Given the description of an element on the screen output the (x, y) to click on. 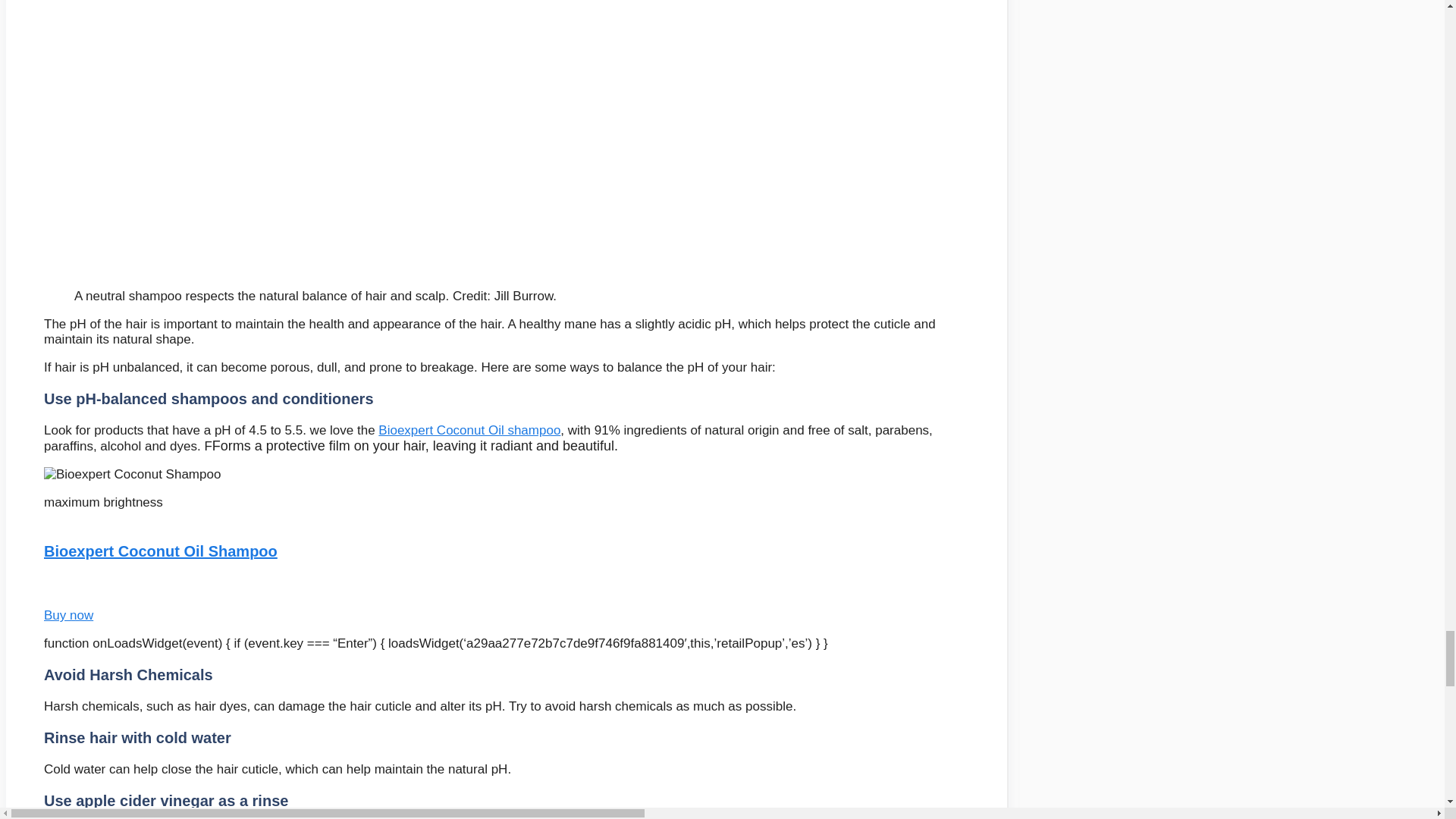
Buy now (68, 623)
Compra ahora (68, 623)
Bioexpert Coconut Oil Shampoo (160, 559)
Bioexpert Coconut Oil shampoo (469, 430)
